Given the description of an element on the screen output the (x, y) to click on. 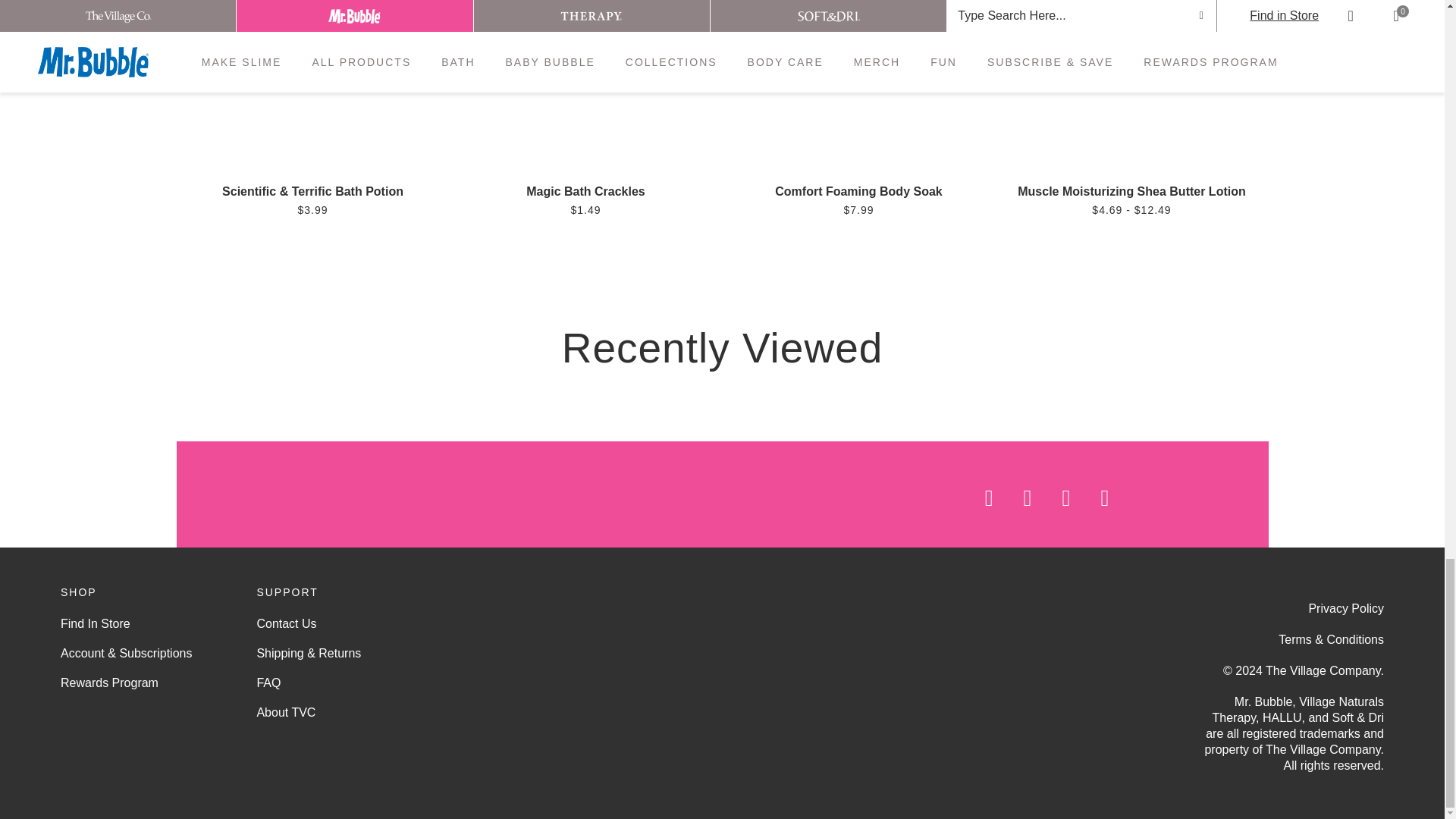
The Village Company on Youtube (1051, 497)
The Village Company on Pinterest (1089, 497)
The Village Company on Facebook (973, 497)
The Village Company on Twitter (1132, 497)
The Village Company on Instagram (1012, 497)
The Village Company on TikTok (1183, 497)
